Given the description of an element on the screen output the (x, y) to click on. 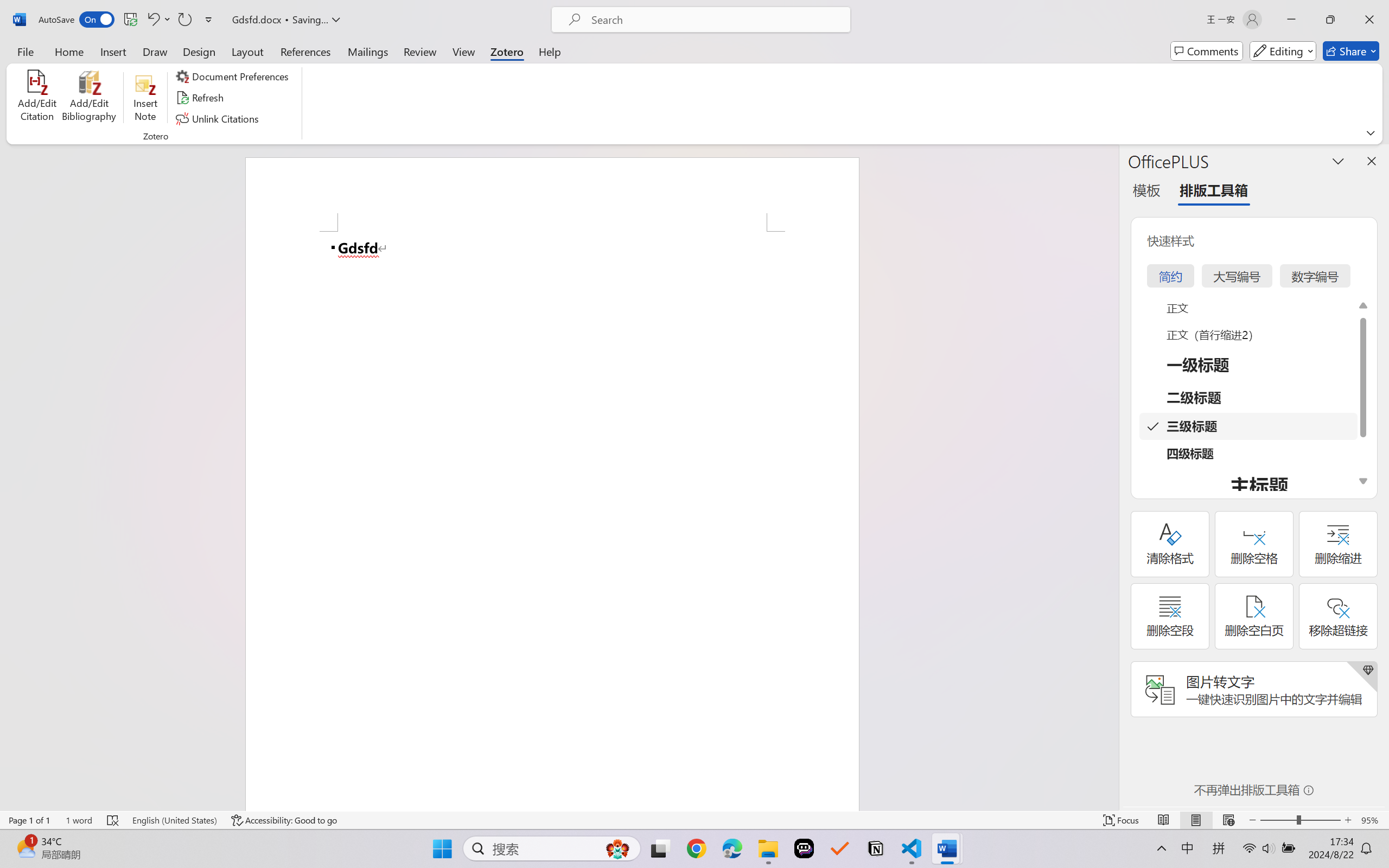
Unlink Citations (218, 118)
Document Preferences (233, 75)
